Given the description of an element on the screen output the (x, y) to click on. 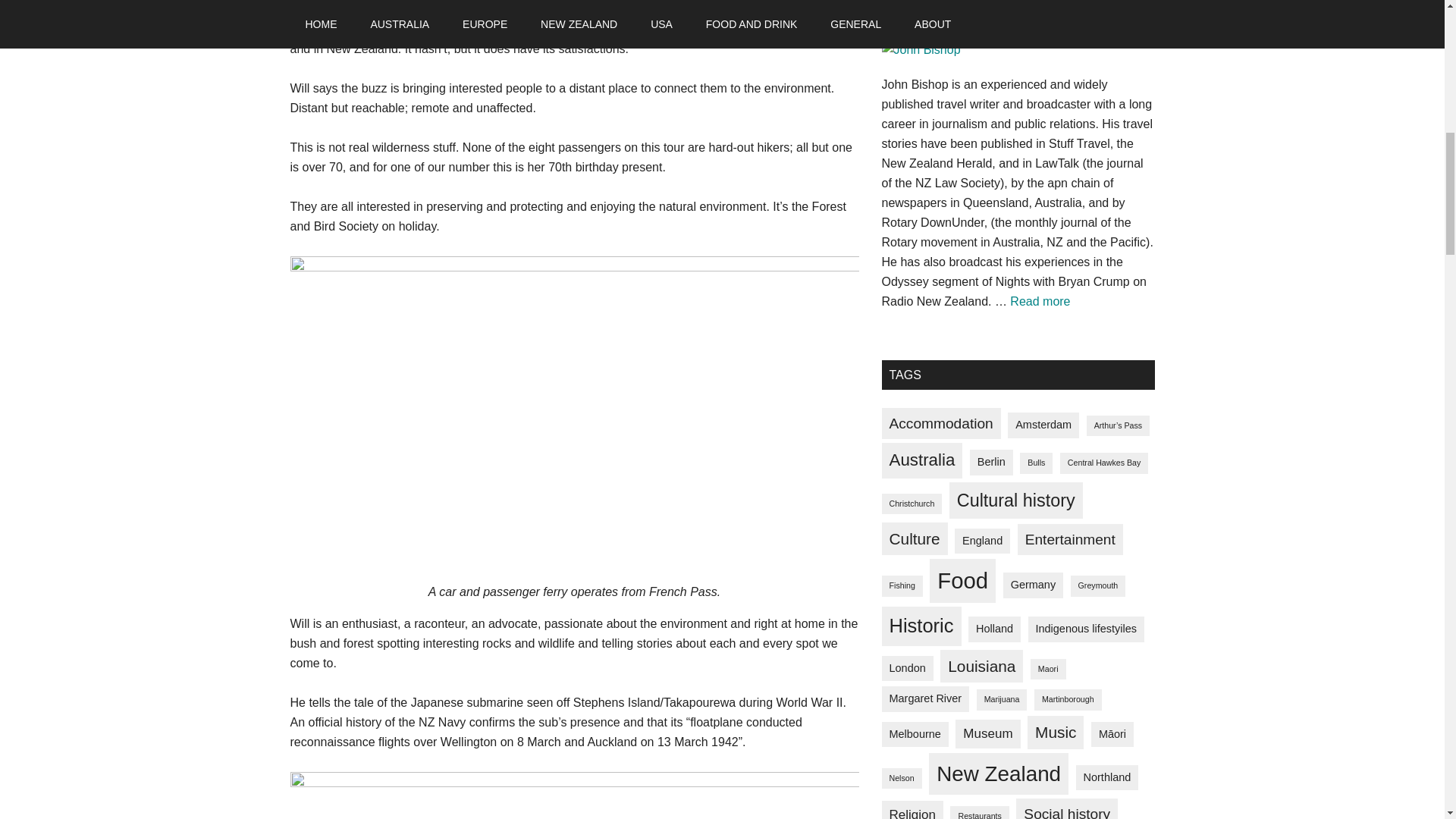
Australia (921, 460)
Berlin (991, 462)
Accommodation (940, 422)
Amsterdam (1040, 300)
